Given the description of an element on the screen output the (x, y) to click on. 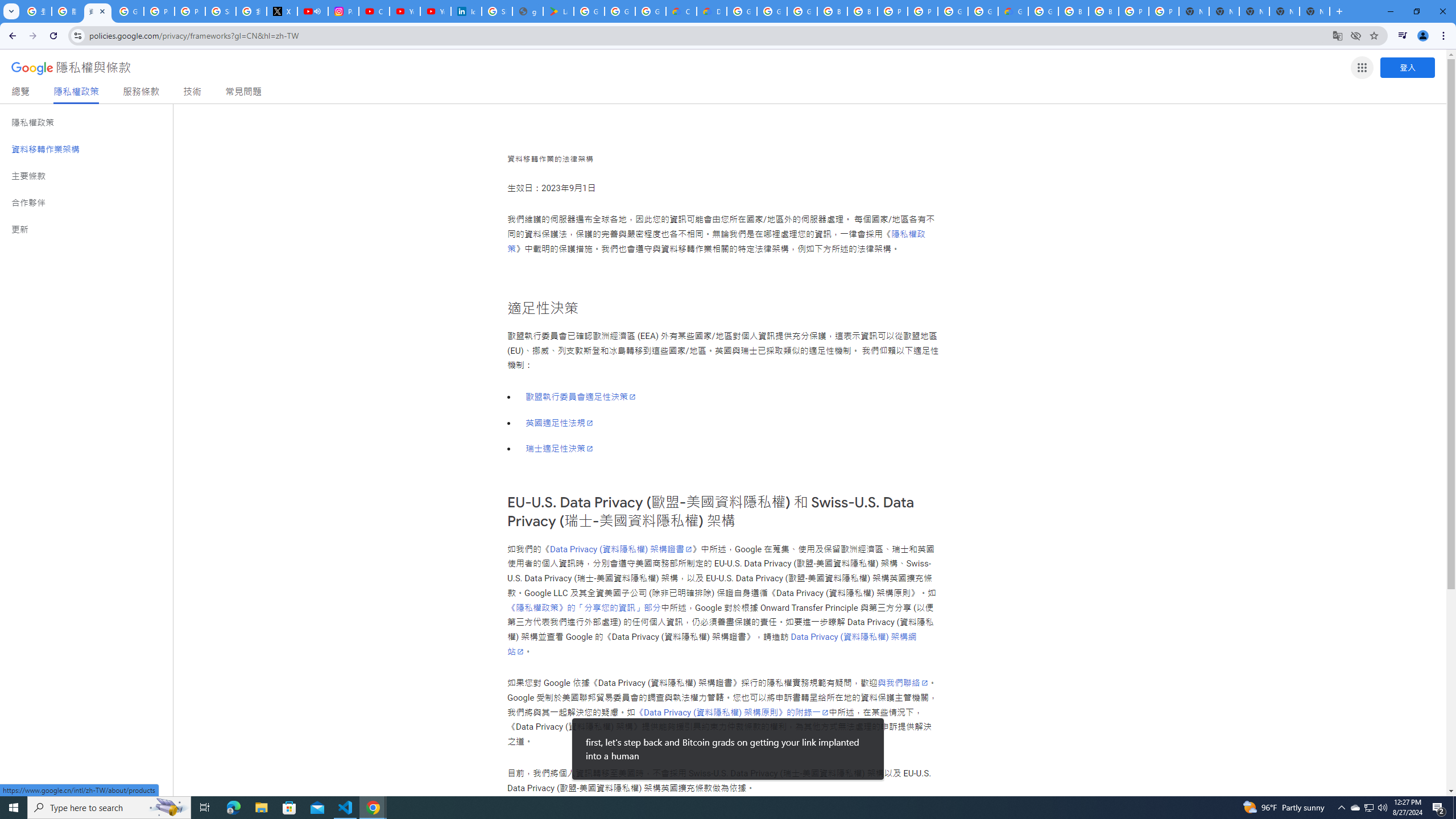
YouTube Culture & Trends - YouTube Top 10, 2021 (434, 11)
